Given the description of an element on the screen output the (x, y) to click on. 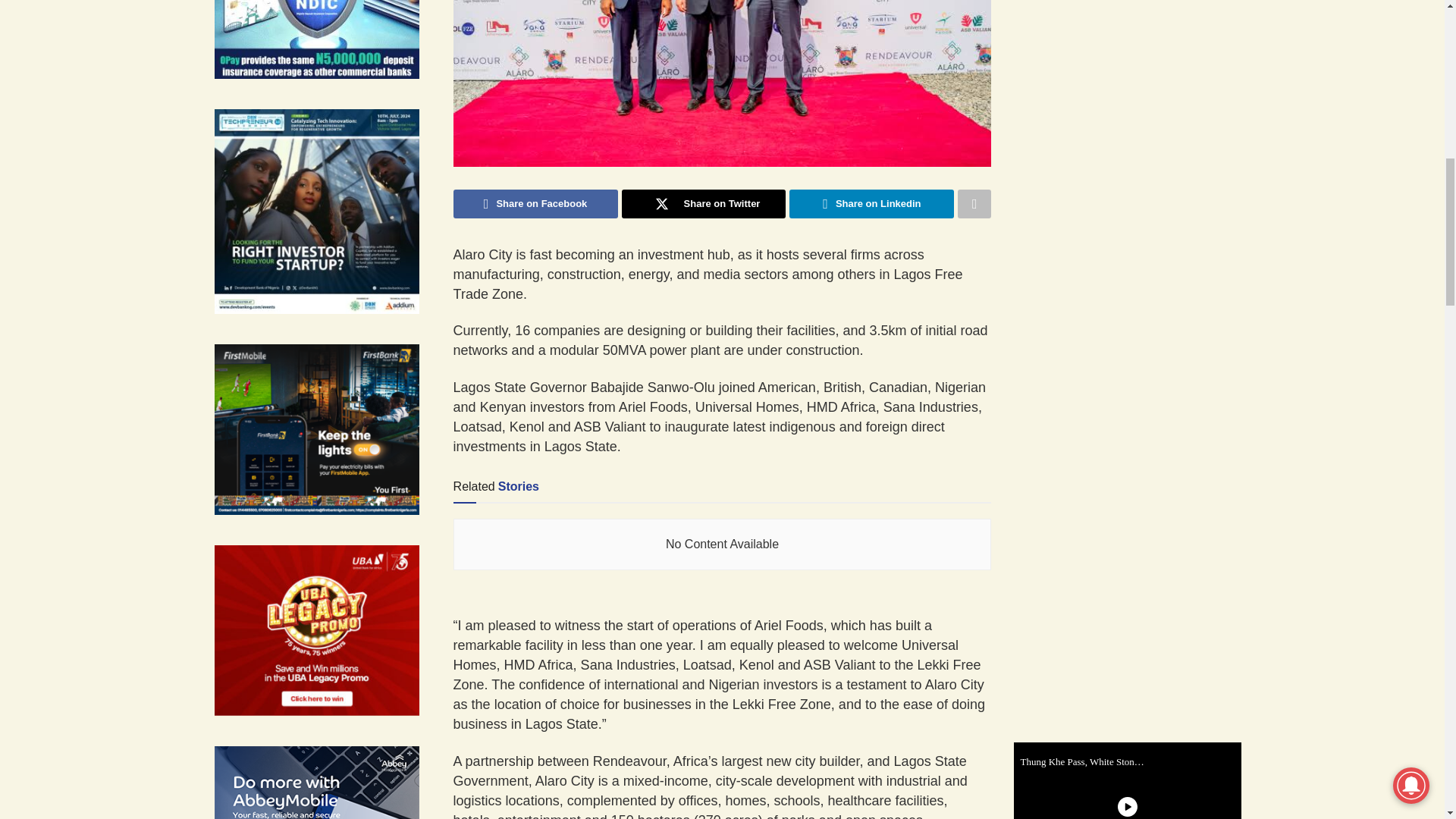
Advertisement (1138, 61)
Advertisement (1138, 253)
